Given the description of an element on the screen output the (x, y) to click on. 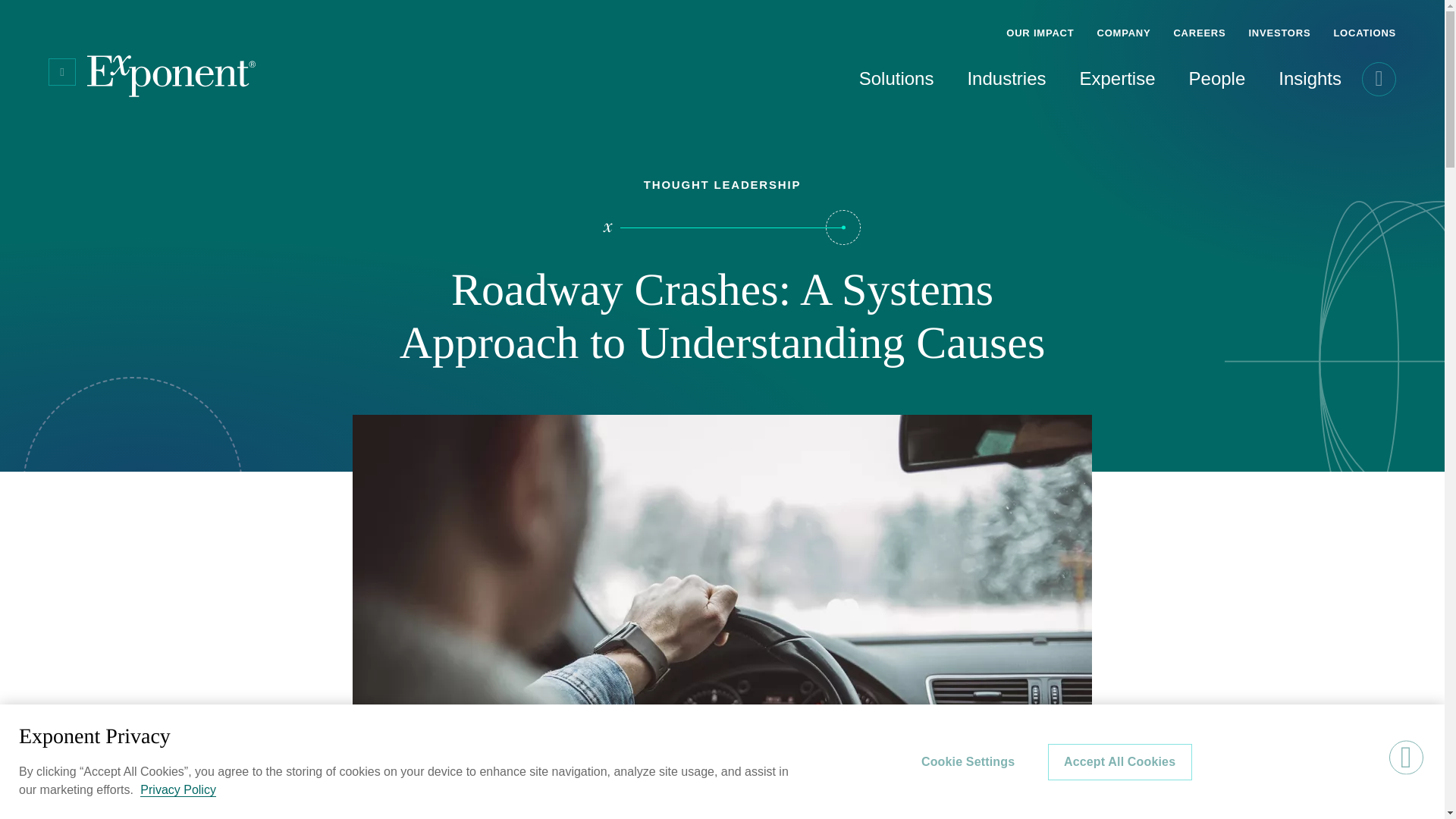
COMPANY (1122, 22)
CAREERS (1198, 22)
Skip to main content (12, 12)
INVESTORS (1279, 22)
Exponent (171, 76)
Solutions (866, 83)
Popup CTA (1277, 767)
OUR IMPACT (1039, 22)
LOCATIONS (1359, 22)
